Given the description of an element on the screen output the (x, y) to click on. 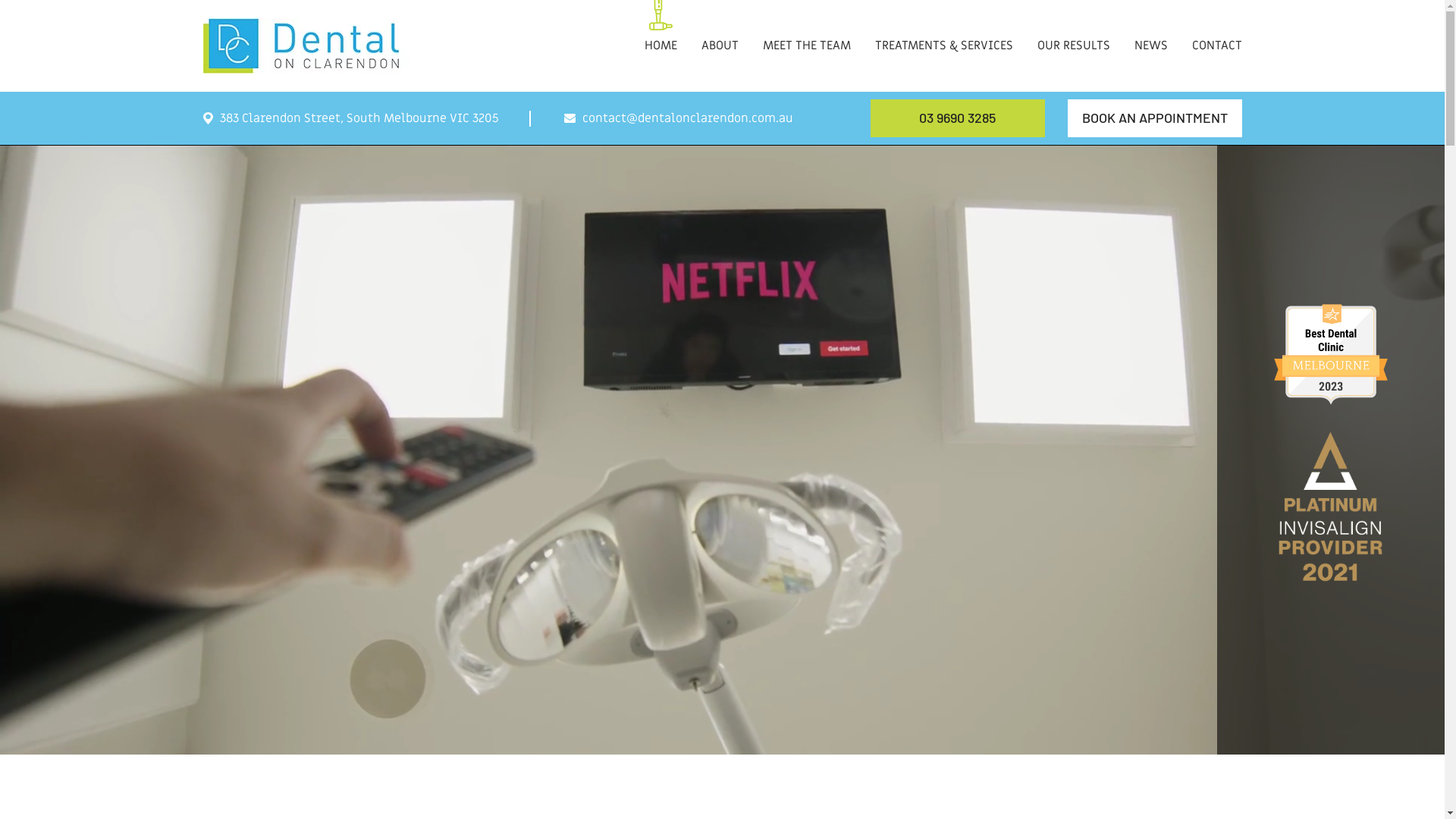
MEET THE TEAM Element type: text (806, 30)
OUR RESULTS Element type: text (1073, 30)
Invisalign Element type: hover (1330, 354)
03 9690 3285 Element type: text (957, 118)
TREATMENTS & SERVICES Element type: text (944, 30)
BOOK AN APPOINTMENT Element type: text (1154, 118)
contact@dentalonclarendon.com.au Element type: text (678, 117)
Invisalign Element type: hover (1330, 506)
CONTACT Element type: text (1217, 30)
ABOUT Element type: text (718, 30)
Dental on Clarendon Element type: hover (305, 45)
383 Clarendon Street, South Melbourne VIC 3205 Element type: text (350, 117)
HOME Element type: text (660, 30)
NEWS Element type: text (1150, 30)
